Given the description of an element on the screen output the (x, y) to click on. 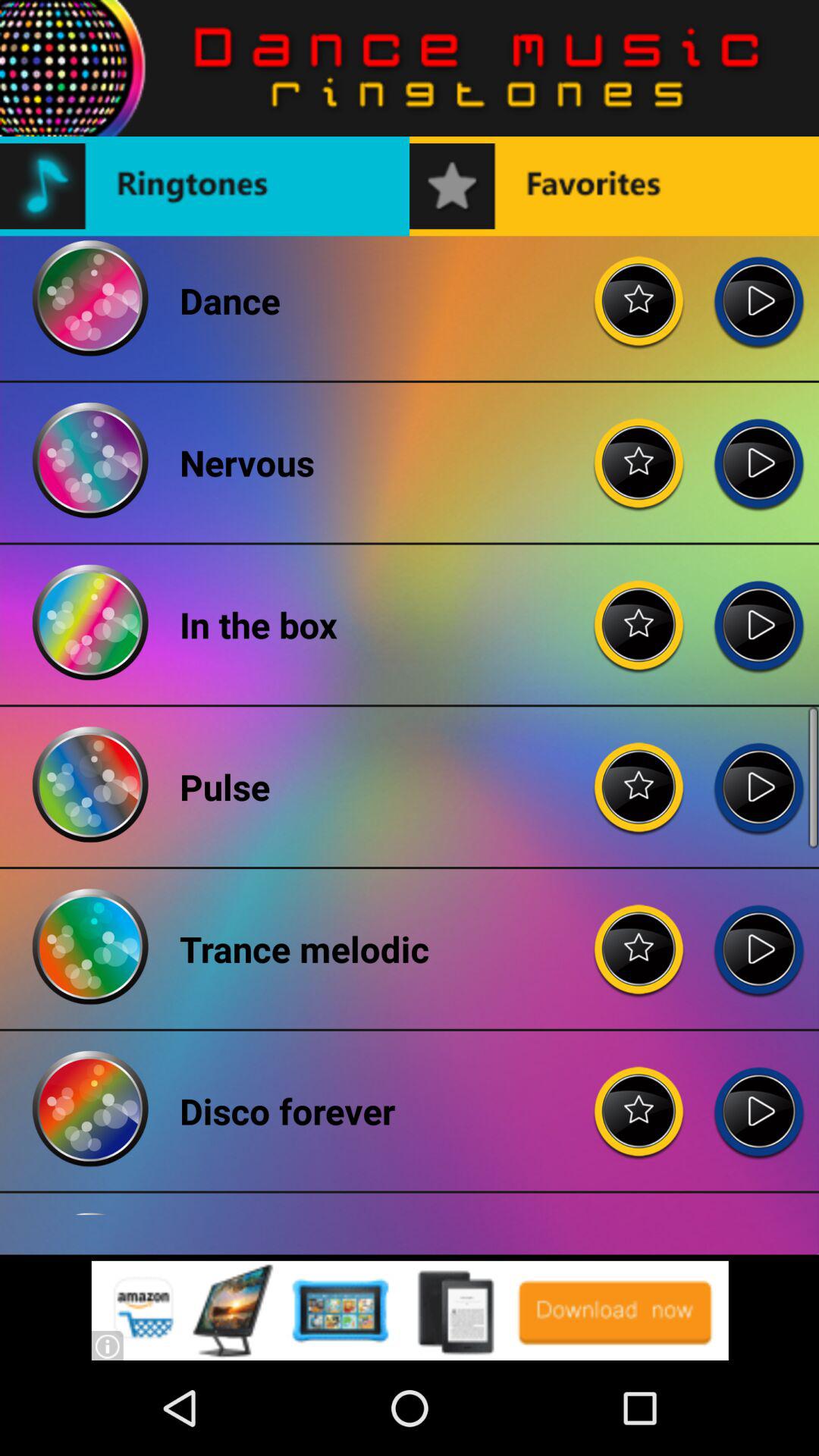
adding favorites (639, 288)
